Given the description of an element on the screen output the (x, y) to click on. 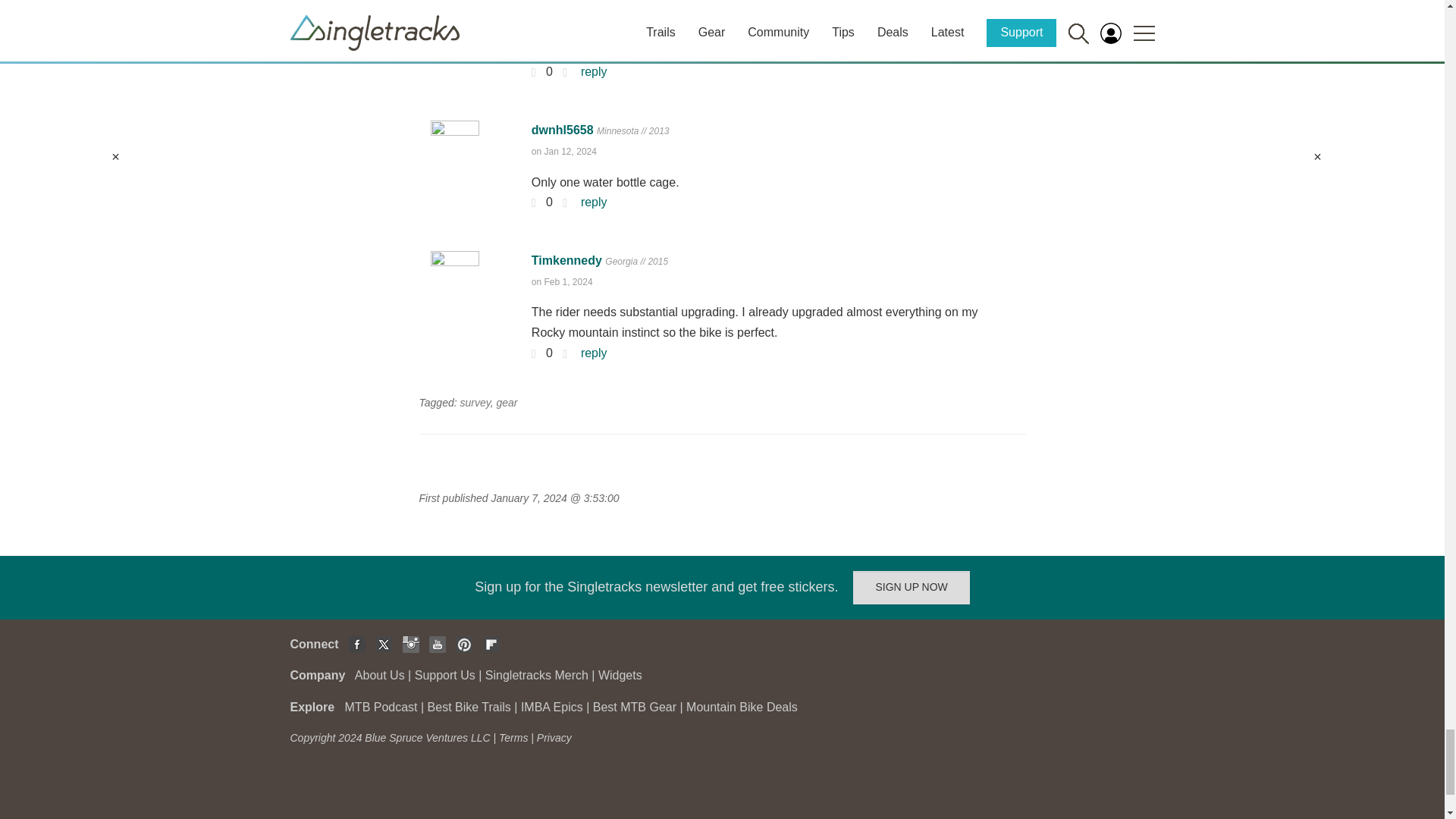
SIGN UP NOW (911, 587)
